Given the description of an element on the screen output the (x, y) to click on. 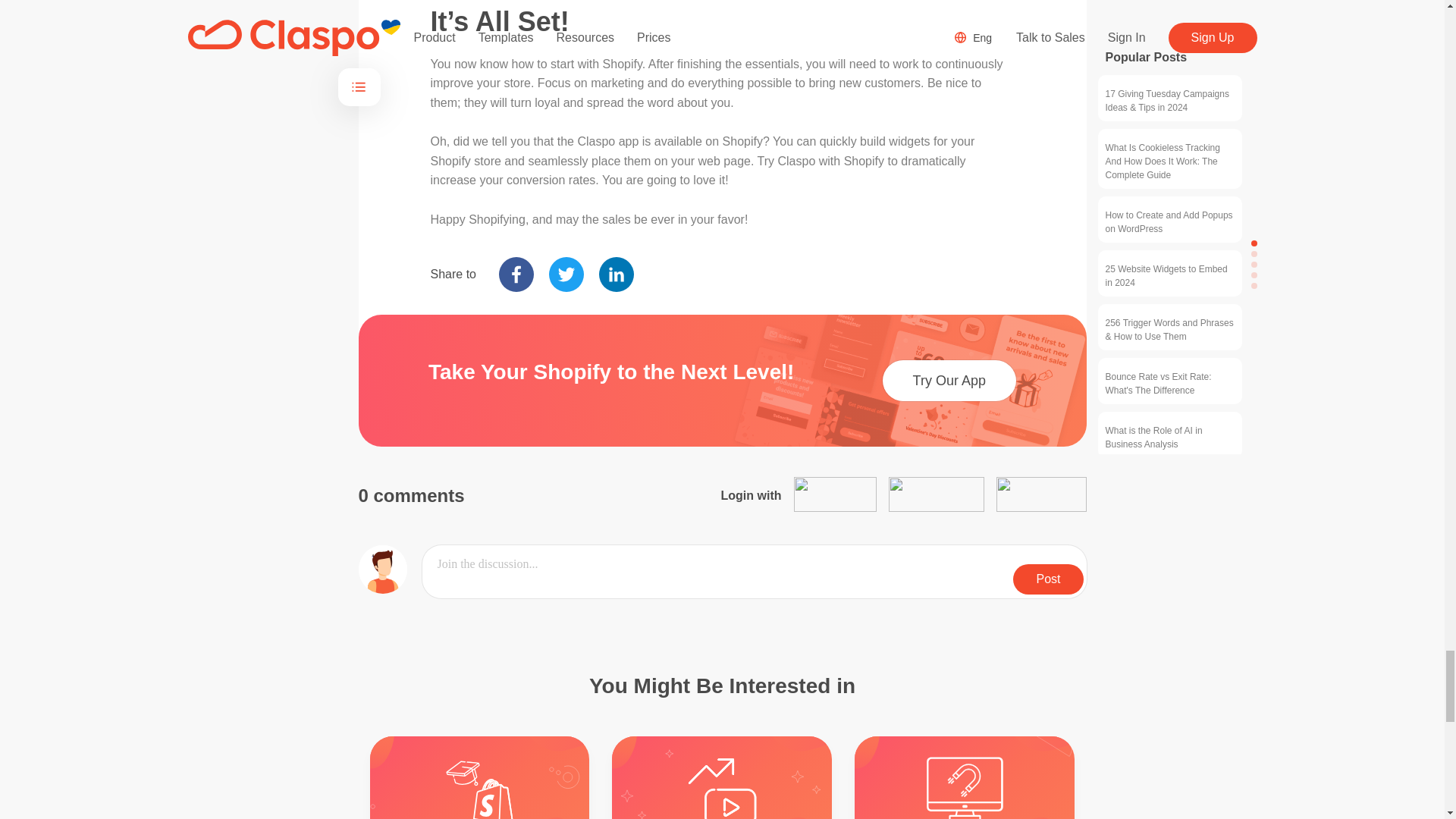
Share on Linkedin (615, 274)
How to Use Shopify: Best Shopify Tutorial for Dummies (479, 777)
Share on Facebook (516, 274)
Share on Twitter (565, 274)
Scarcity Marketing: The Good, the Bad, and the Creative (964, 777)
10 Ways How to Grow Your YouTube Channel in 2023 (721, 777)
Post (754, 571)
How To Price A Product: Everything About Product Pricing (1207, 777)
